Given the description of an element on the screen output the (x, y) to click on. 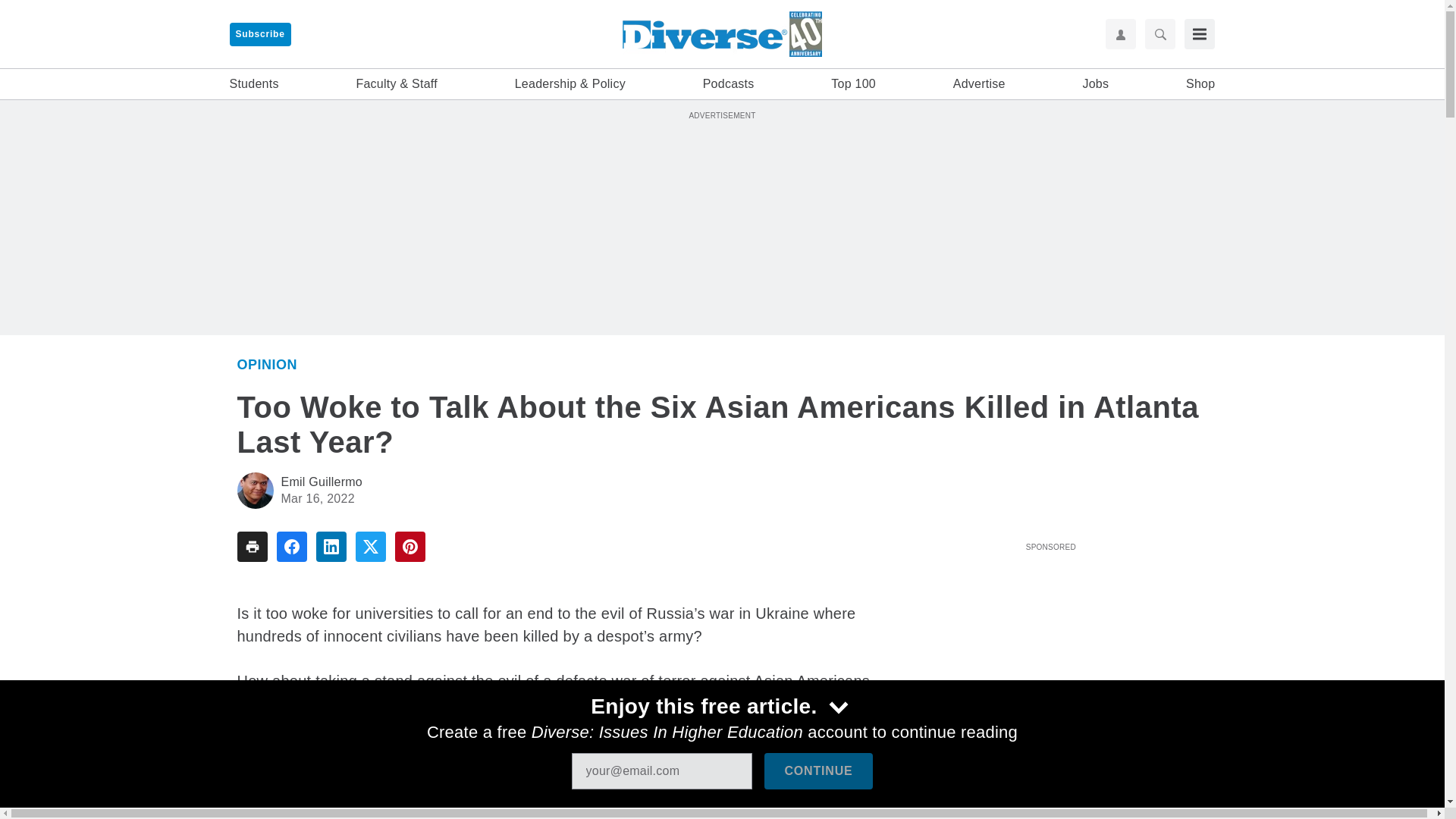
Share To facebook (290, 546)
Advertise (979, 84)
Share To print (250, 546)
Subscribe (258, 33)
Share To linkedin (330, 546)
Shop (1200, 84)
Subscribe (258, 33)
Top 100 (853, 84)
Jobs (1094, 84)
Opinion (266, 364)
